Given the description of an element on the screen output the (x, y) to click on. 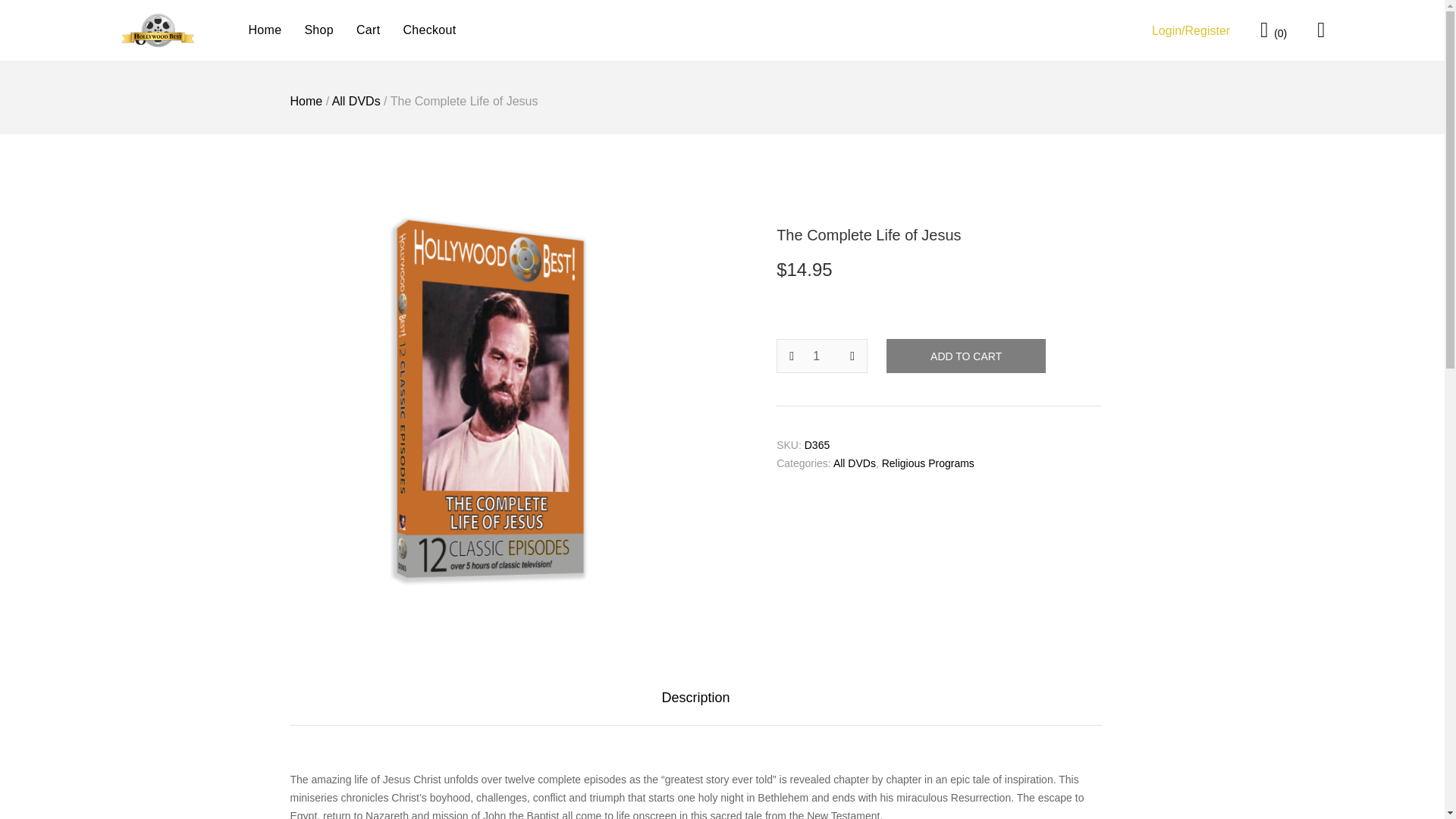
Shop (318, 29)
All DVDs (355, 101)
Home (305, 101)
Checkout (429, 29)
All DVDs (854, 463)
Search (33, 20)
1 (821, 356)
Cart (368, 29)
Login (1190, 29)
